Given the description of an element on the screen output the (x, y) to click on. 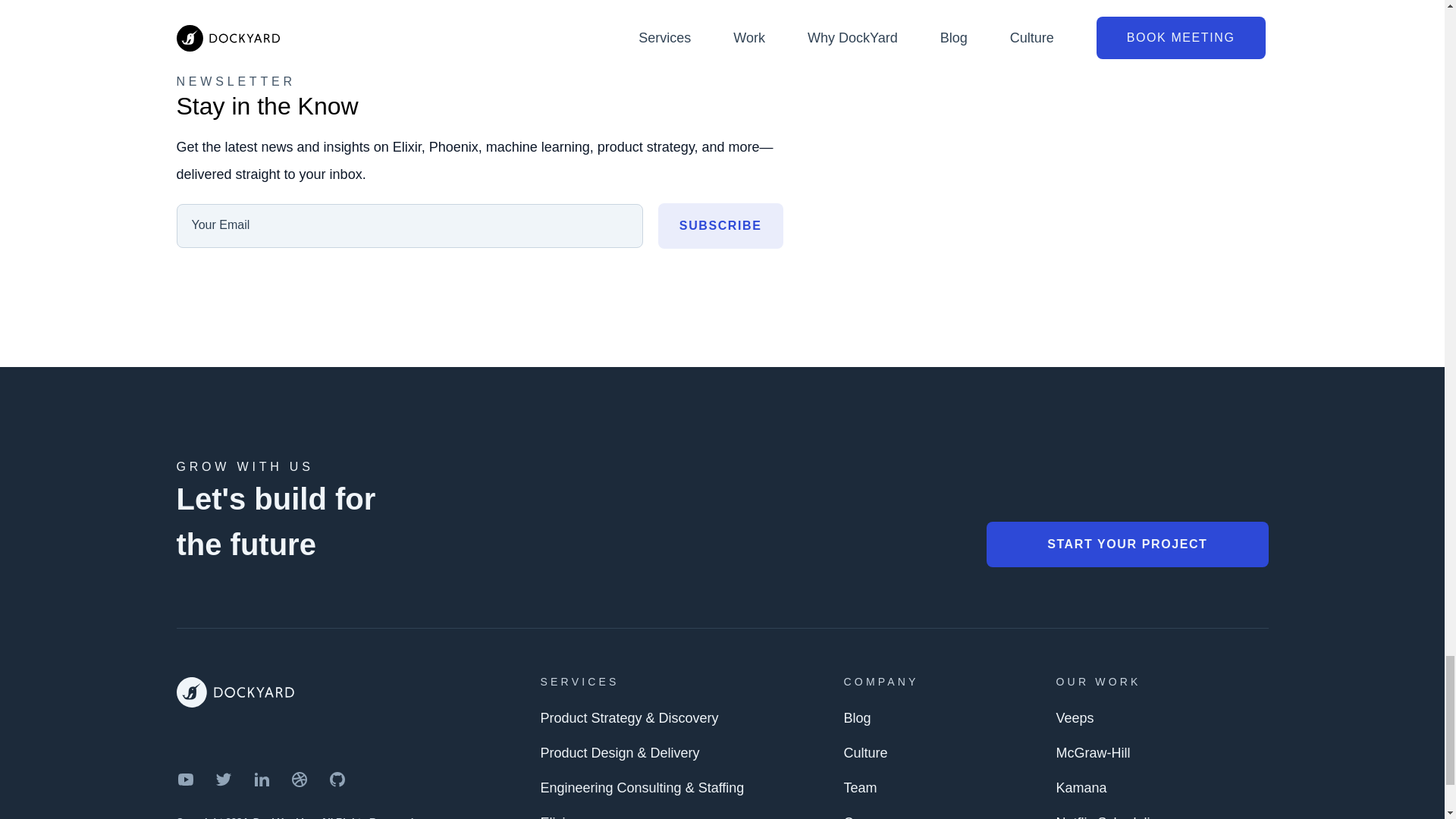
Elixir (554, 814)
McGraw-Hill (1092, 752)
OUR WORK (1098, 681)
Team (860, 787)
SERVICES (579, 681)
Careers (868, 814)
Veeps (1074, 718)
START YOUR PROJECT (1127, 544)
Blog (857, 718)
SUBSCRIBE (720, 225)
Kamana (1080, 787)
Netflix Scheduling (1109, 814)
Culture (865, 752)
